Given the description of an element on the screen output the (x, y) to click on. 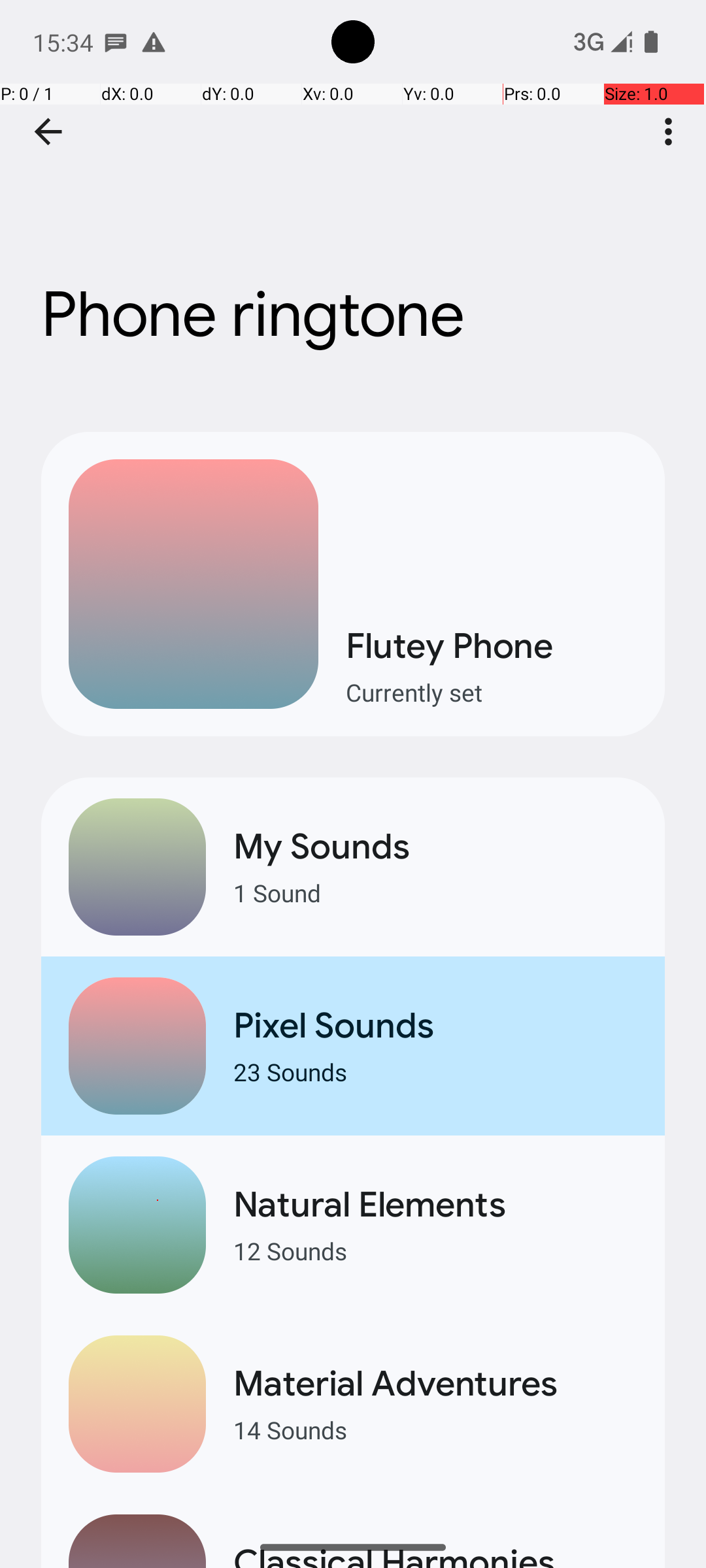
Currently set Element type: android.widget.TextView (491, 691)
My Sounds Element type: android.widget.TextView (435, 846)
1 Sound Element type: android.widget.TextView (435, 892)
Pixel Sounds Element type: android.widget.TextView (435, 1025)
23 Sounds Element type: android.widget.TextView (435, 1071)
Natural Elements Element type: android.widget.TextView (435, 1204)
12 Sounds Element type: android.widget.TextView (435, 1250)
Material Adventures Element type: android.widget.TextView (435, 1383)
14 Sounds Element type: android.widget.TextView (435, 1429)
Classical Harmonies Element type: android.widget.TextView (435, 1554)
